Given the description of an element on the screen output the (x, y) to click on. 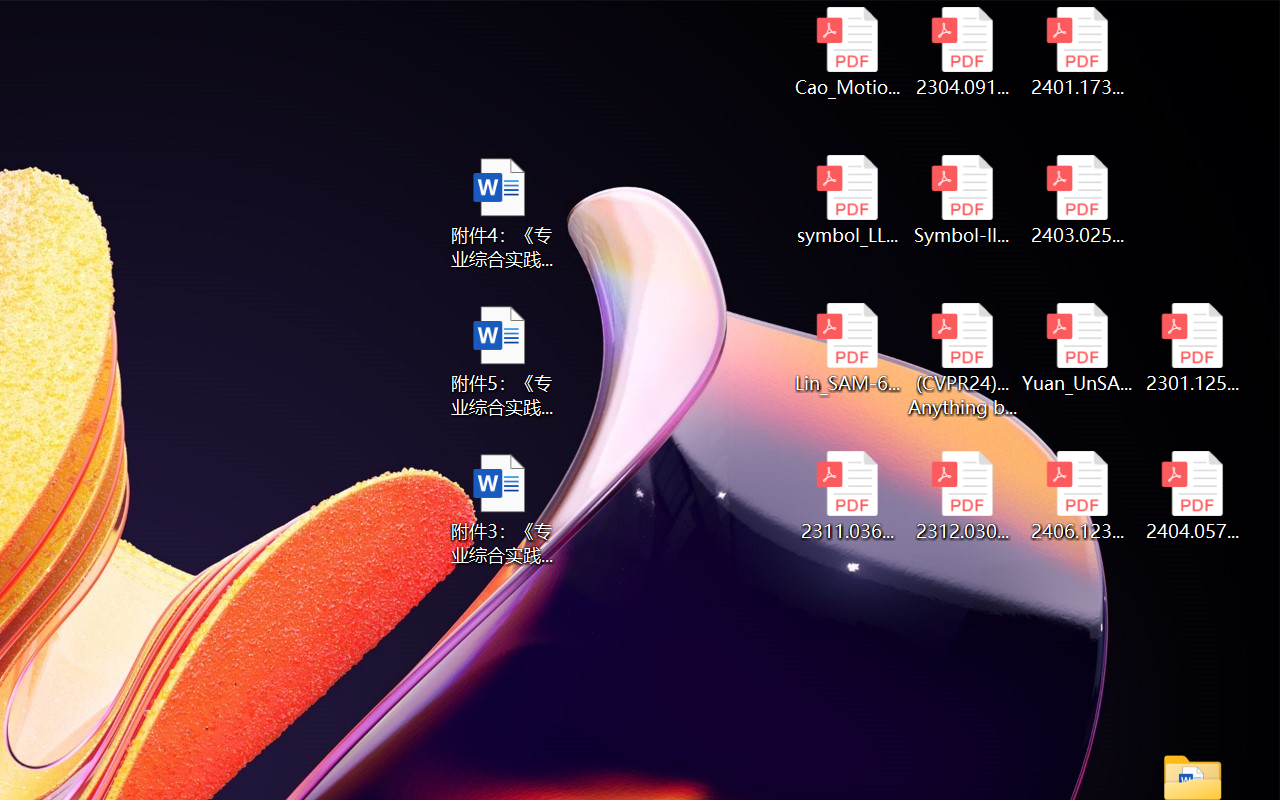
(CVPR24)Matching Anything by Segmenting Anything.pdf (962, 360)
symbol_LLM.pdf (846, 200)
2304.09121v3.pdf (962, 52)
2401.17399v1.pdf (1077, 52)
2406.12373v2.pdf (1077, 496)
2311.03658v2.pdf (846, 496)
2312.03032v2.pdf (962, 496)
2301.12597v3.pdf (1192, 348)
2404.05719v1.pdf (1192, 496)
Symbol-llm-v2.pdf (962, 200)
